Given the description of an element on the screen output the (x, y) to click on. 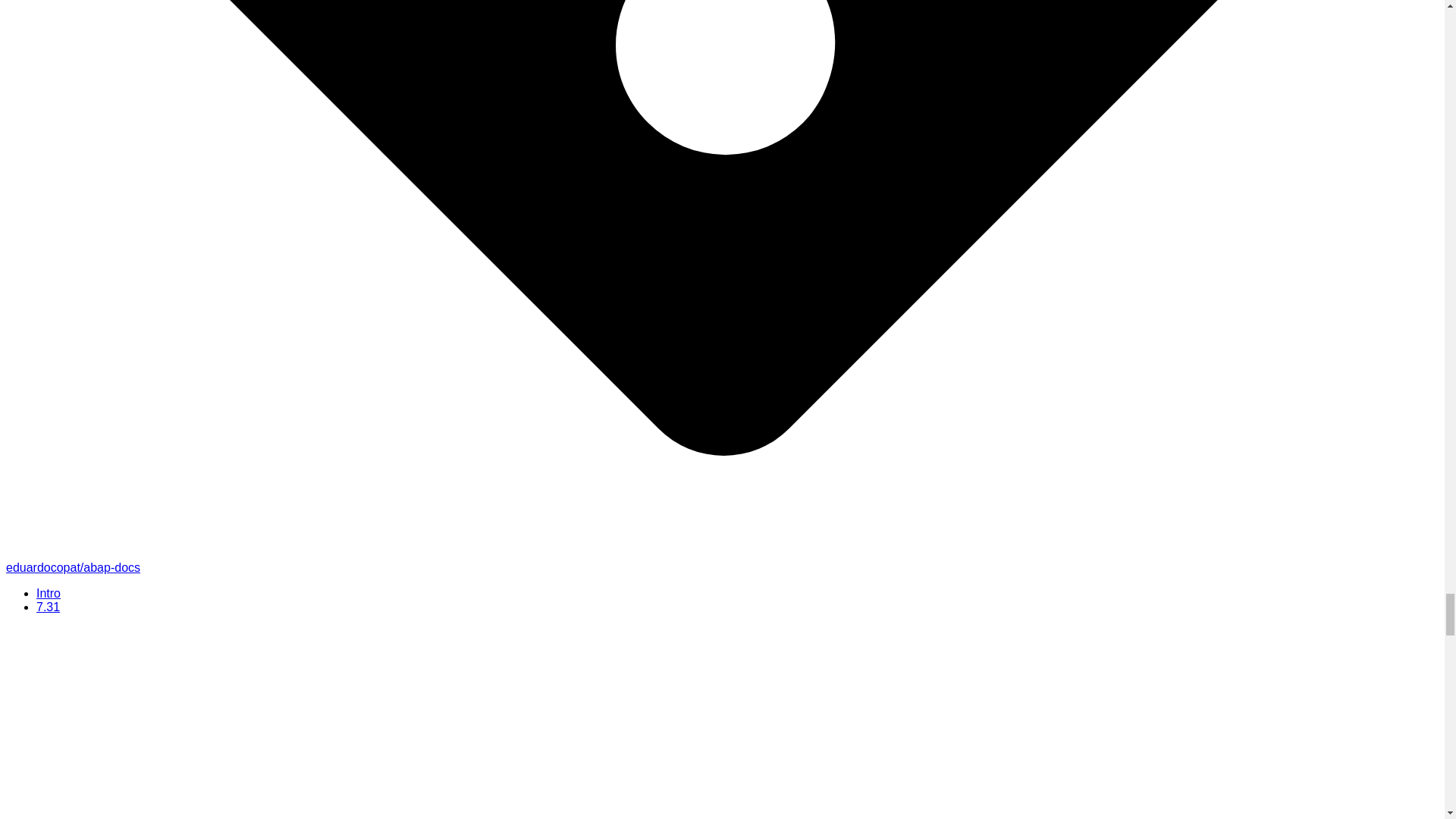
Intro (48, 593)
Intro (48, 593)
7.31 (47, 606)
7.31 (47, 606)
